Given the description of an element on the screen output the (x, y) to click on. 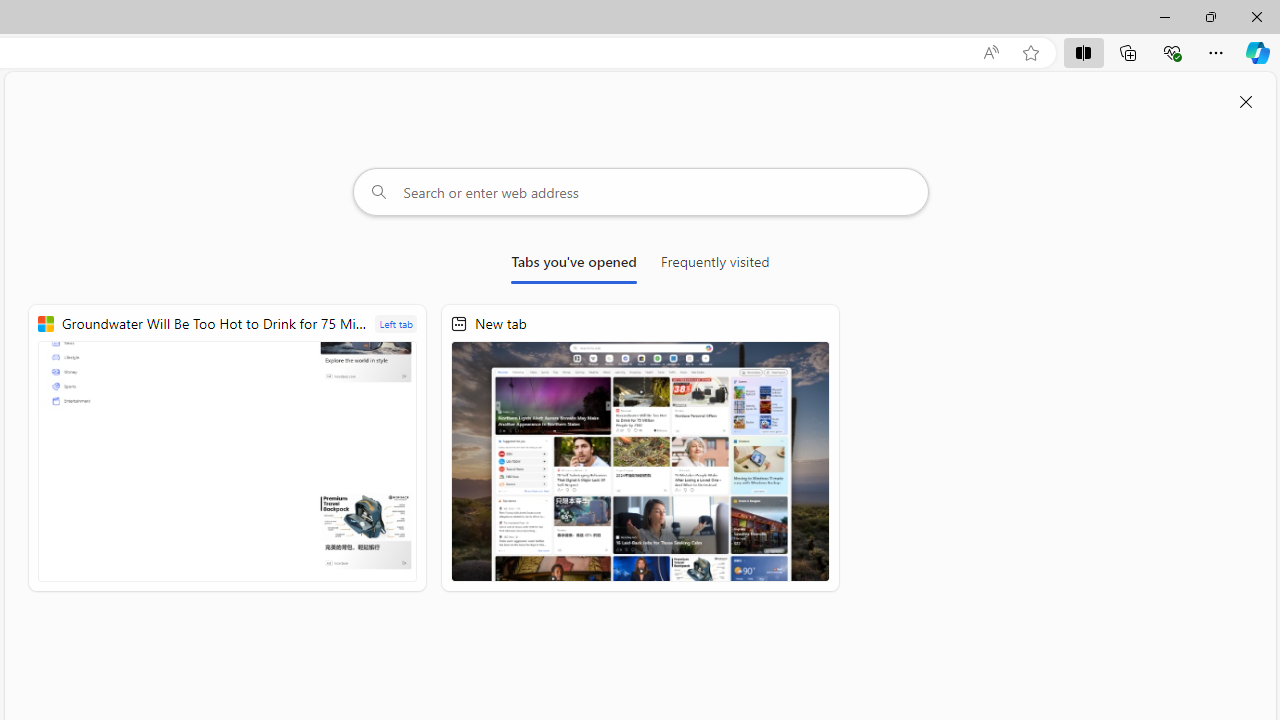
Search or enter web address (640, 191)
Tabs you've opened (573, 265)
Frequently visited (715, 265)
